Given the description of an element on the screen output the (x, y) to click on. 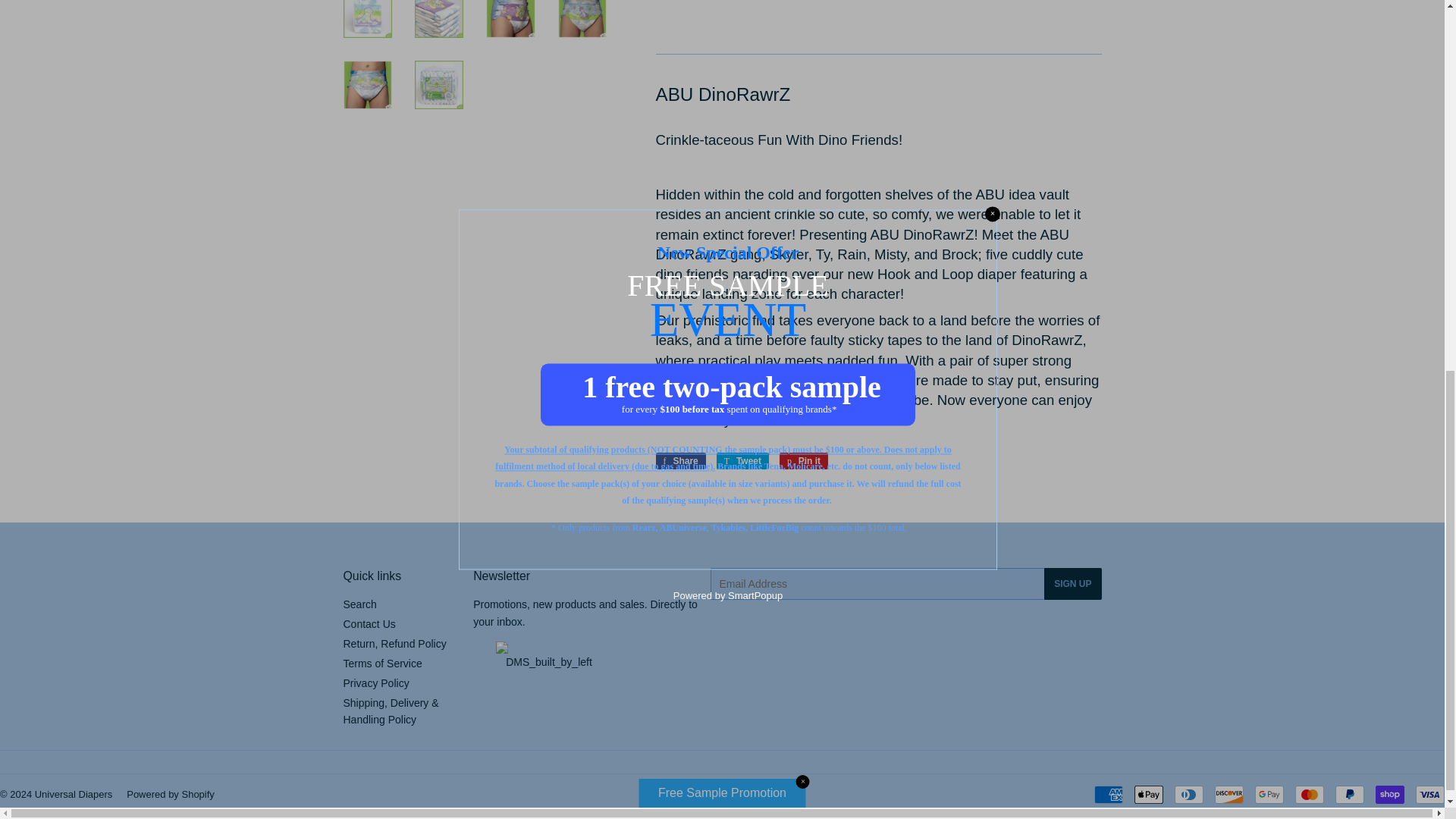
Shop Pay (1390, 794)
Google Pay (1269, 794)
Discover (1228, 794)
PayPal (1349, 794)
American Express (1108, 794)
Apple Pay (1148, 794)
Mastercard (1309, 794)
Diners Club (1189, 794)
